Given the description of an element on the screen output the (x, y) to click on. 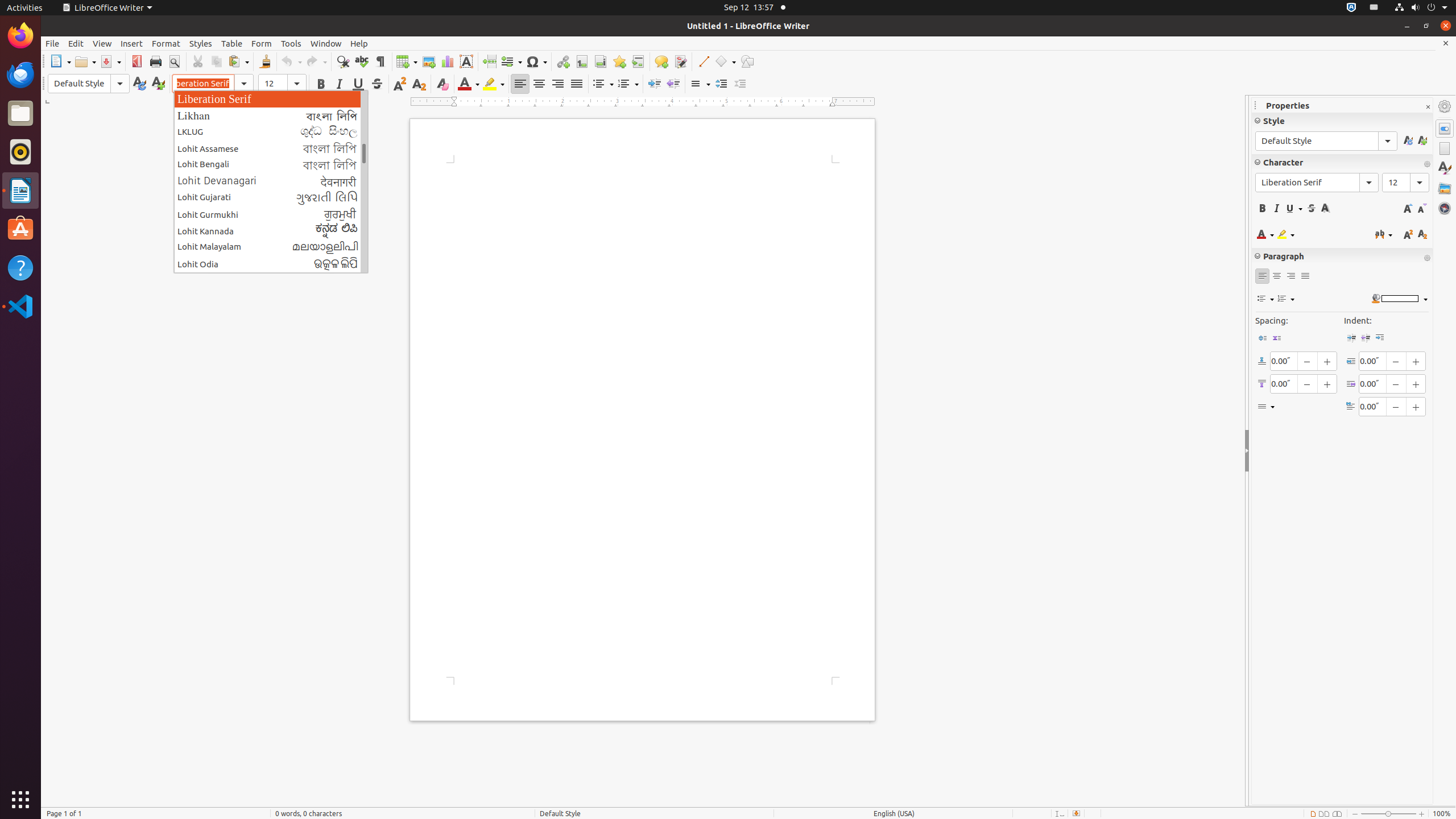
Styles Element type: menu (200, 43)
Line Element type: push-button (702, 61)
Likhan Element type: list-item (270, 114)
Track Changes Functions Element type: toggle-button (679, 61)
Center Element type: toggle-button (538, 83)
